Given the description of an element on the screen output the (x, y) to click on. 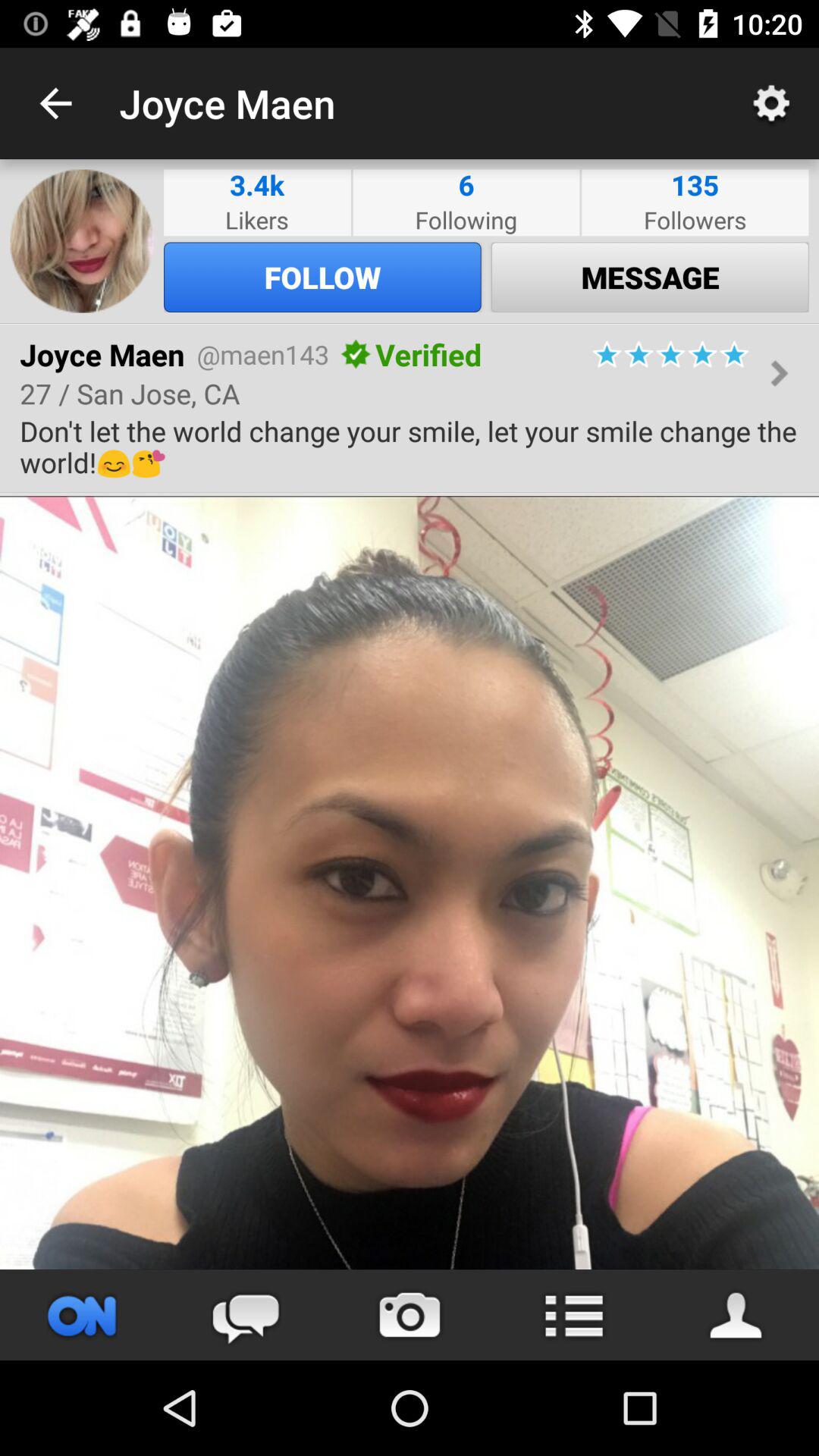
go to profile (737, 1315)
